Given the description of an element on the screen output the (x, y) to click on. 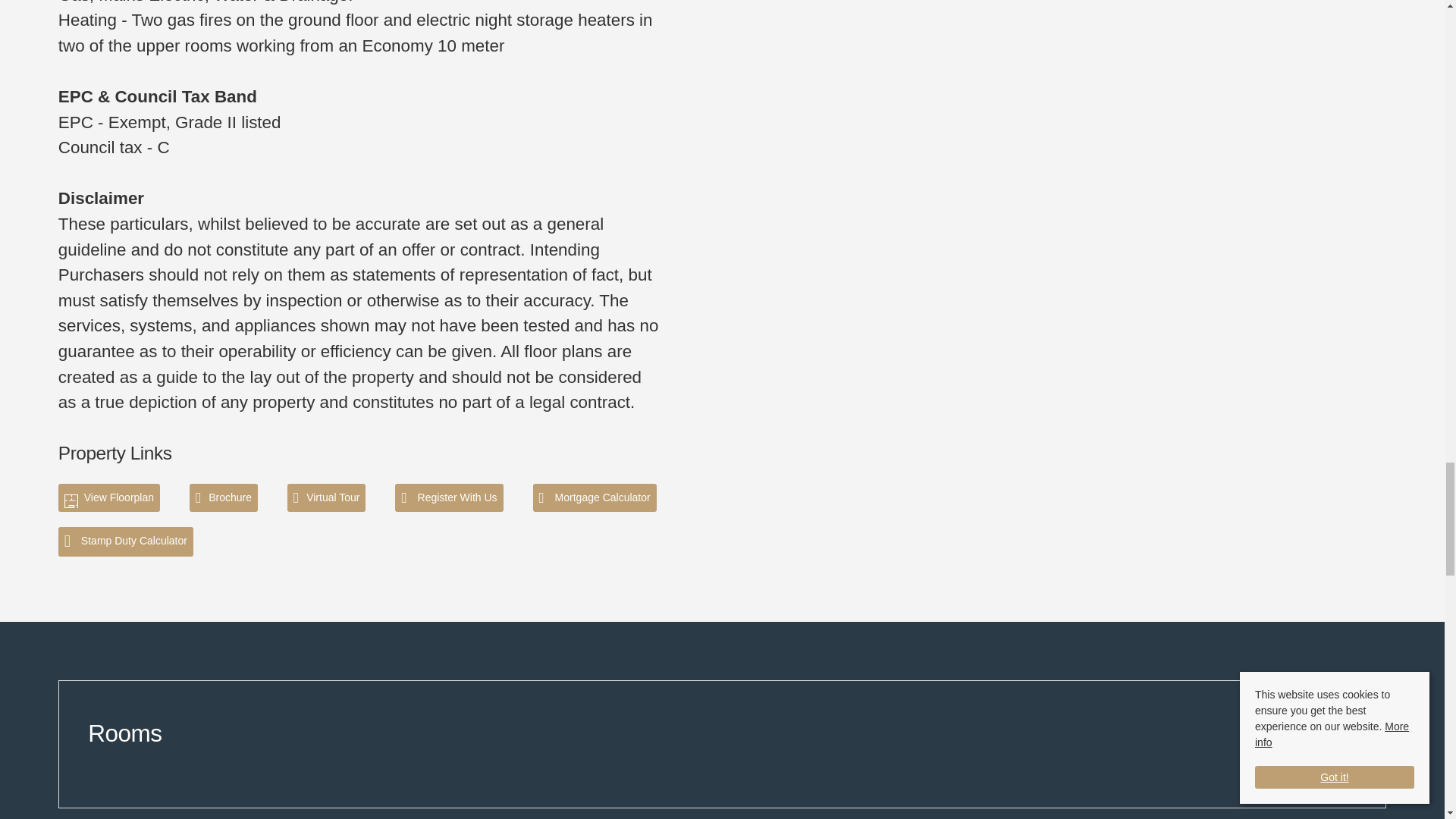
View Floorplan (109, 497)
Virtual Tour (325, 497)
Brochure (223, 497)
Stamp Duty Calculator (125, 541)
Mortgage Calculator (594, 497)
Register With Us (448, 497)
